Given the description of an element on the screen output the (x, y) to click on. 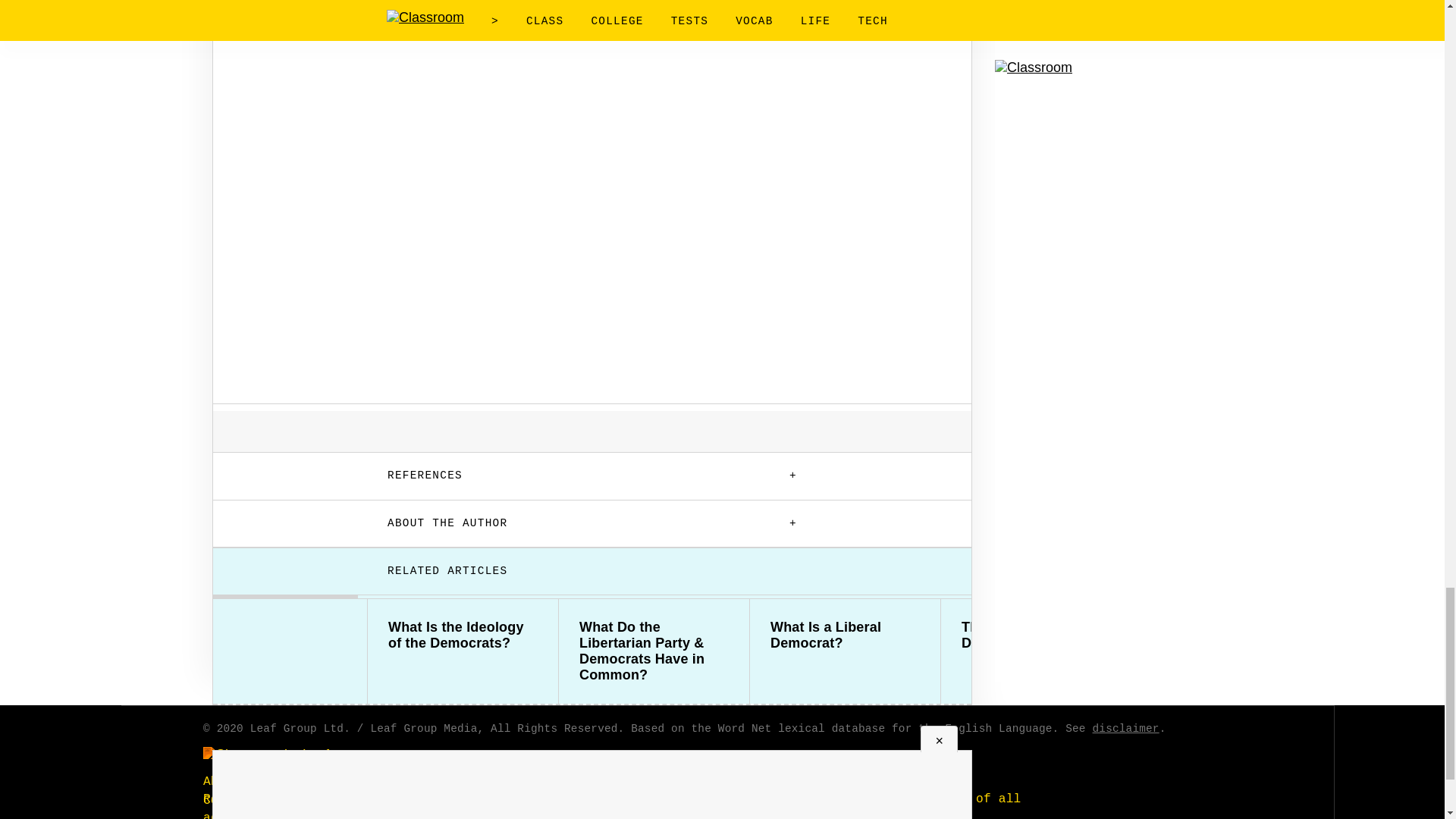
What Party Was a Splinter Group of the Republicans? (1227, 642)
The Lutheran Church During WWII (1035, 634)
About (221, 781)
What Is a Liberal Democrat? (844, 634)
Contact (228, 800)
What Is the Ideology of the Democrats? (462, 634)
